Given the description of an element on the screen output the (x, y) to click on. 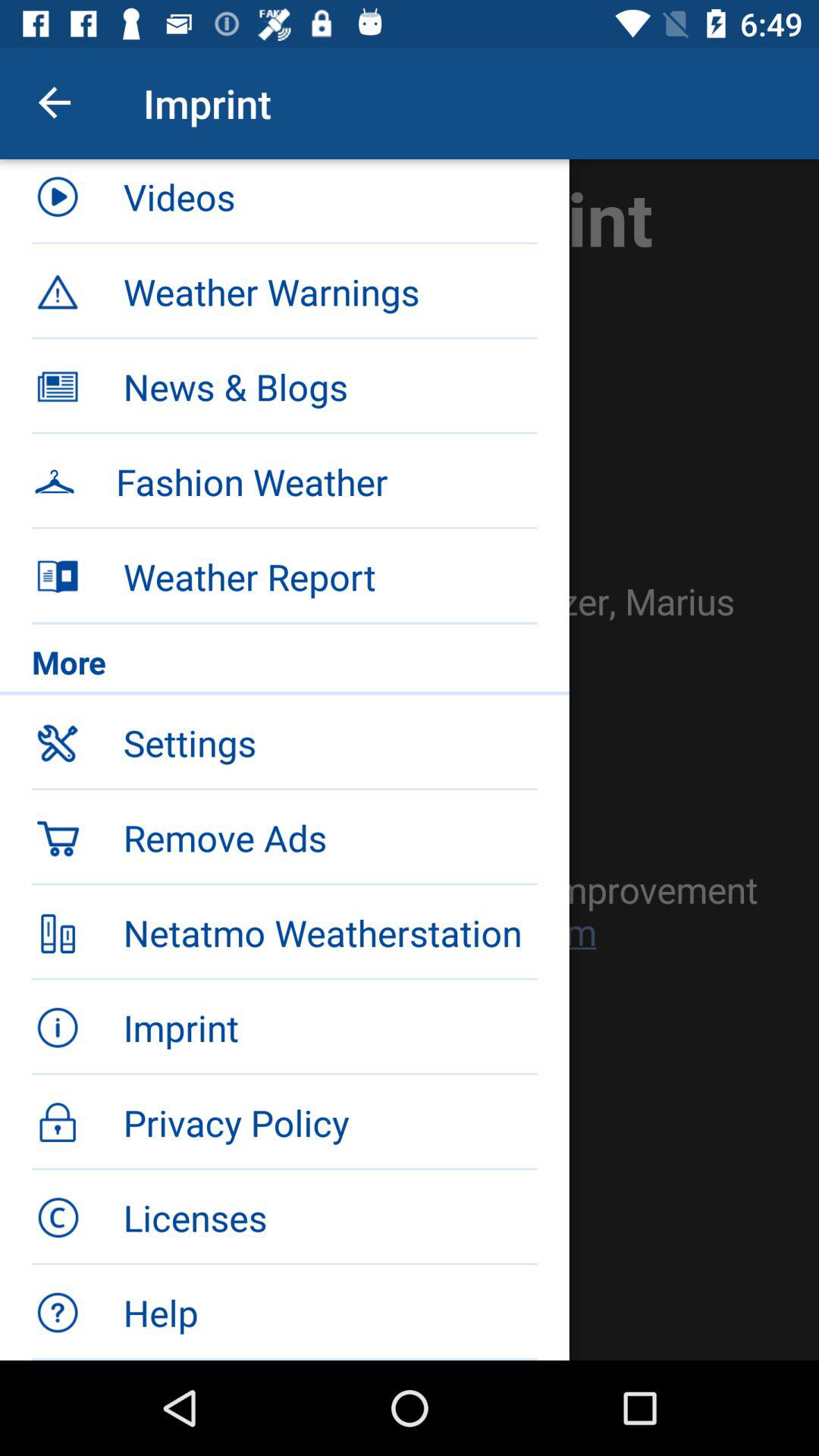
launch news & blogs icon (330, 386)
